Given the description of an element on the screen output the (x, y) to click on. 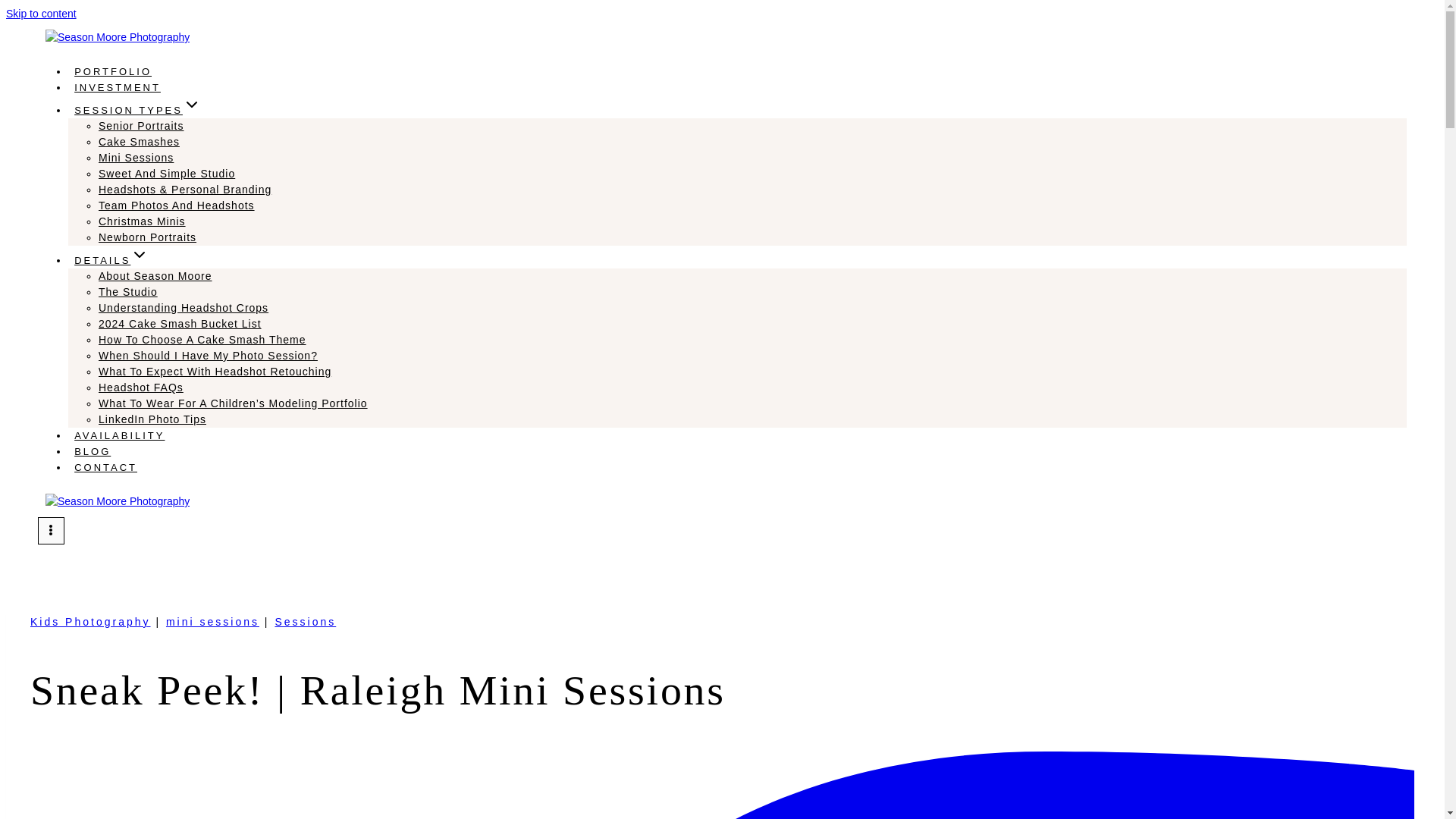
Cake Smashes (139, 141)
Toggle Menu (50, 530)
Skip to content (41, 13)
Sweet And Simple Studio (166, 173)
SESSION TYPESEXPAND (137, 110)
EXPAND (139, 254)
INVESTMENT (117, 87)
PORTFOLIO (112, 71)
BLOG (92, 451)
Mini Sessions (136, 157)
Toggle Menu (50, 530)
Kids Photography (90, 621)
2024 Cake Smash Bucket List (180, 323)
How To Choose A Cake Smash Theme (202, 339)
Sessions (305, 621)
